Given the description of an element on the screen output the (x, y) to click on. 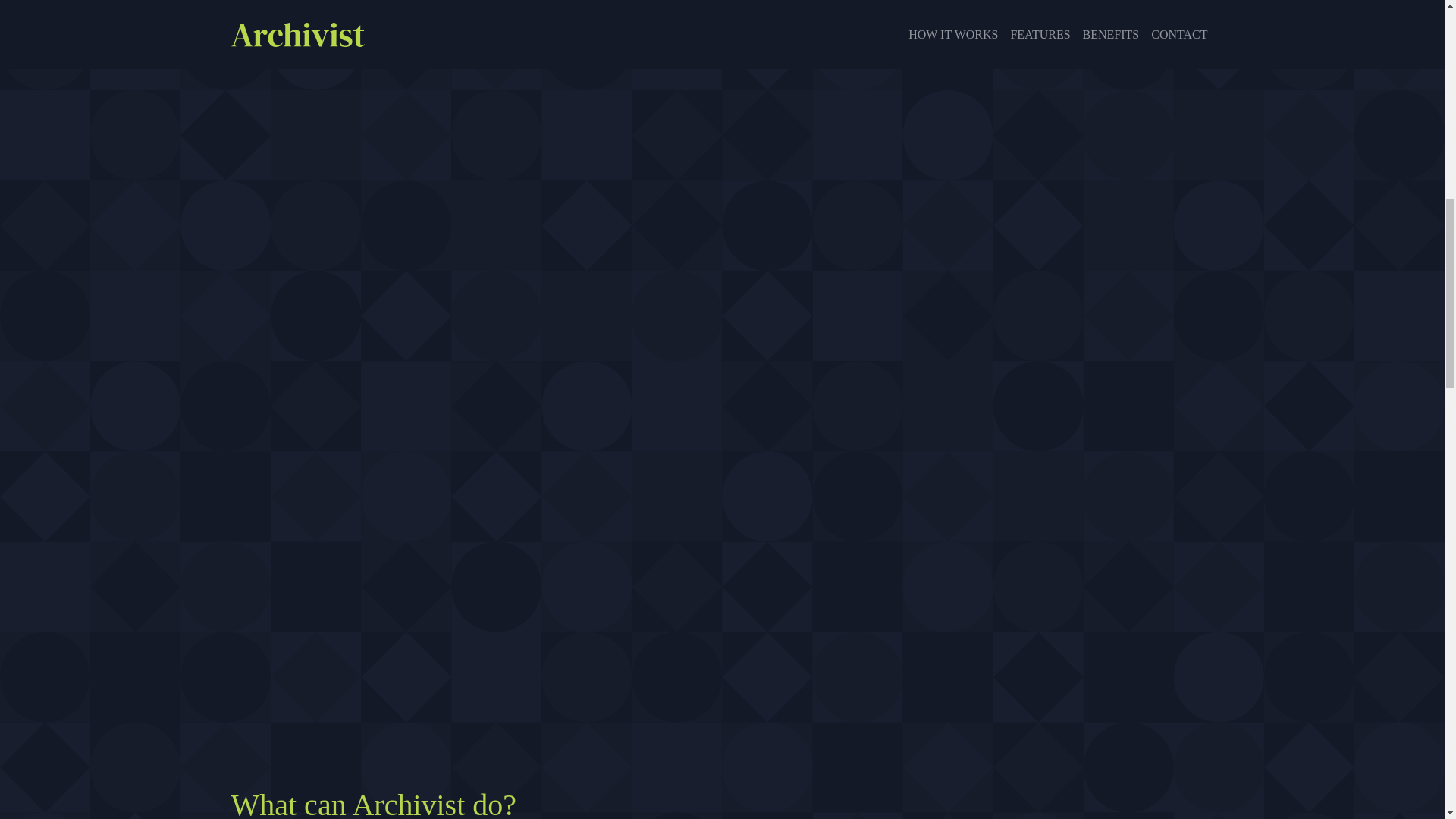
GET STARTED (721, 18)
